Given the description of an element on the screen output the (x, y) to click on. 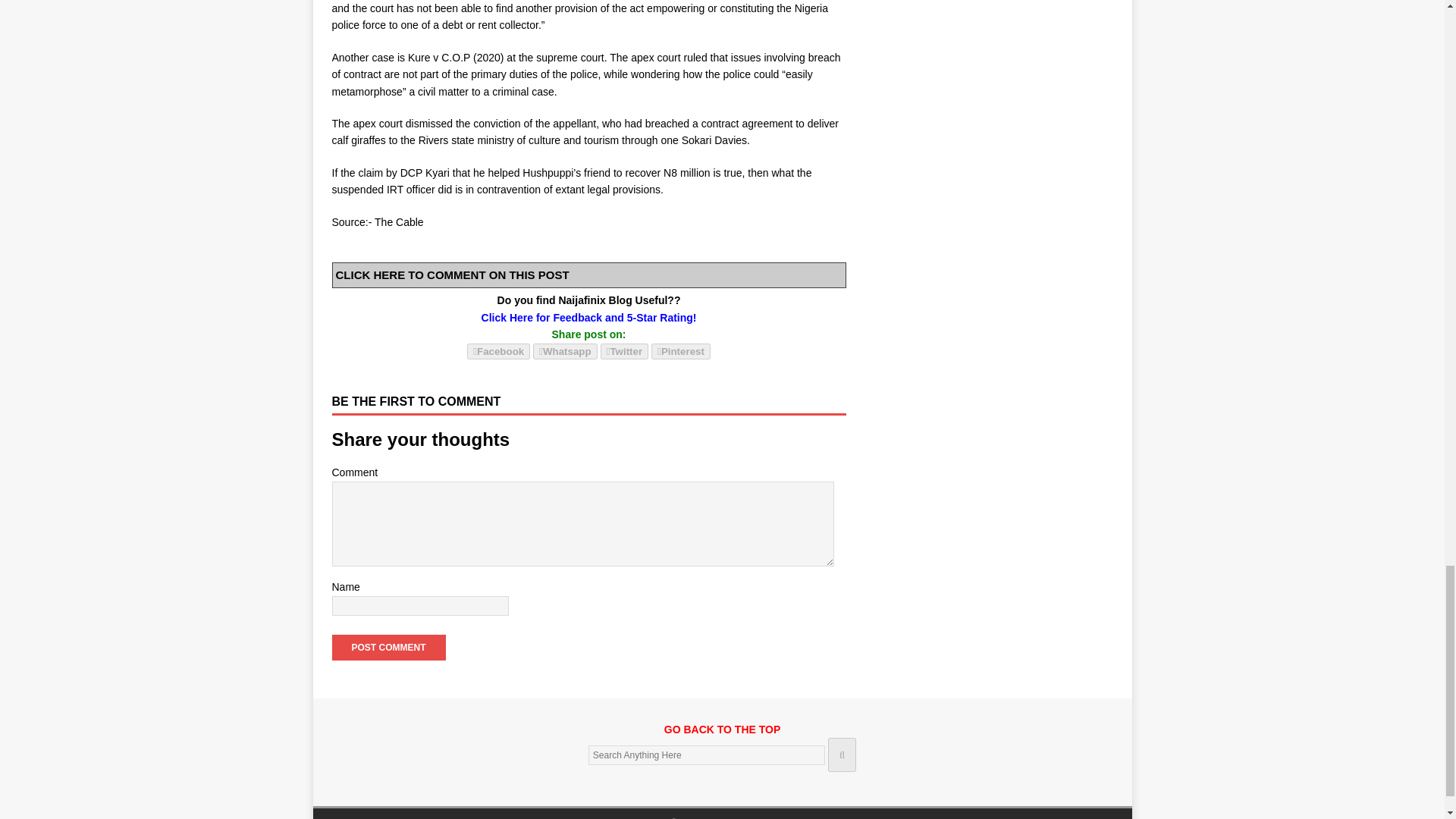
Facebook (498, 350)
Pinterest (680, 351)
Facebook (498, 351)
CLICK HERE TO COMMENT ON THIS POST (451, 274)
Twitter (624, 350)
Pinterest (680, 350)
Twitter (624, 351)
Whatsapp (564, 350)
GO BACK TO THE TOP (722, 736)
Whatsapp (564, 351)
Post Comment (388, 647)
Click Here for Feedback and 5-Star Rating! (589, 317)
Post Comment (388, 647)
